Given the description of an element on the screen output the (x, y) to click on. 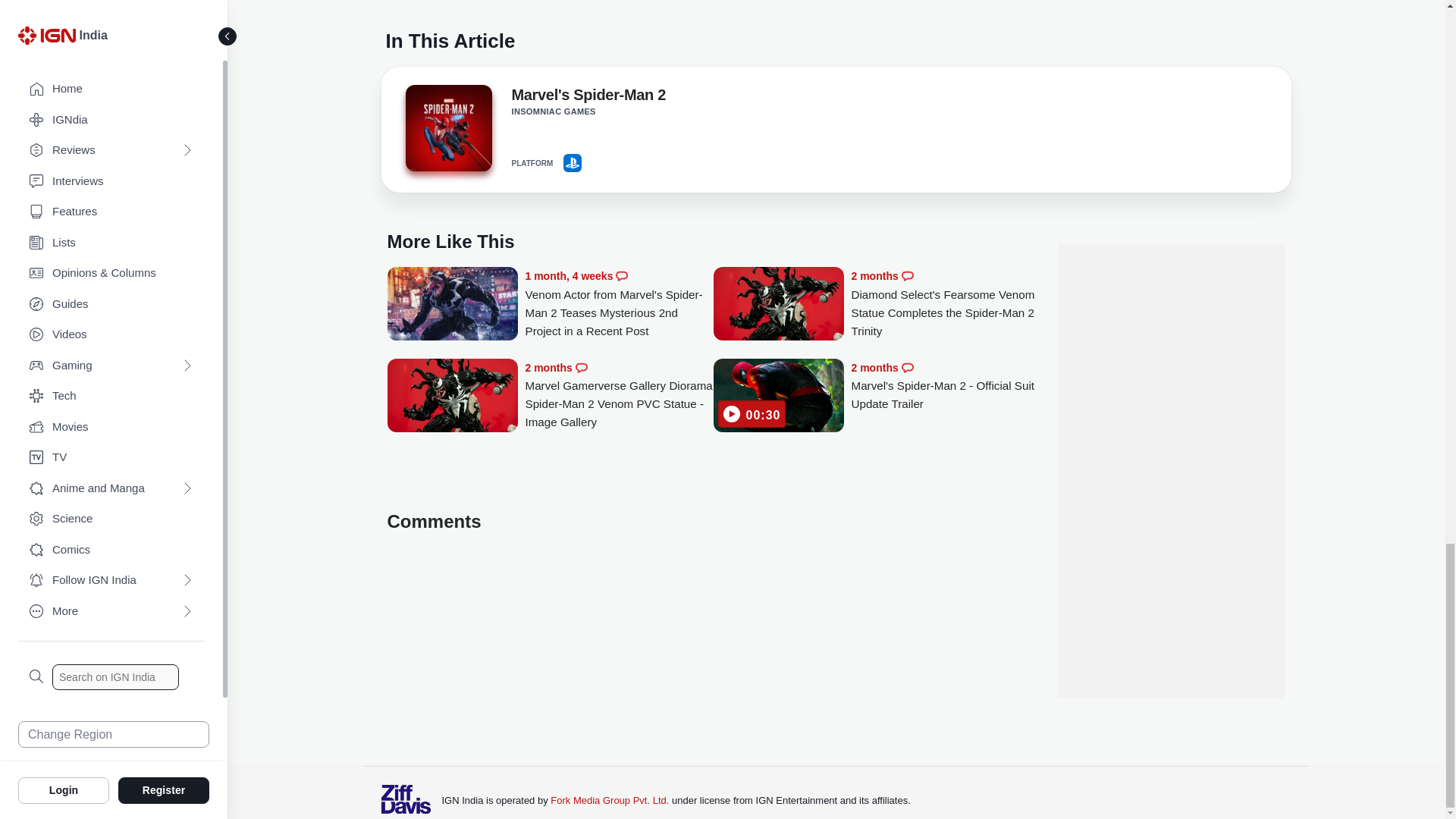
Marvel's Spider-Man 2 (588, 97)
Marvel's Spider-Man 2 - Official Suit Update Trailer (944, 386)
Marvel's Spider-Man 2 - Official Suit Update Trailer (778, 396)
Marvel's Spider-Man 2 (448, 132)
Marvel's Spider-Man 2 (448, 128)
